Given the description of an element on the screen output the (x, y) to click on. 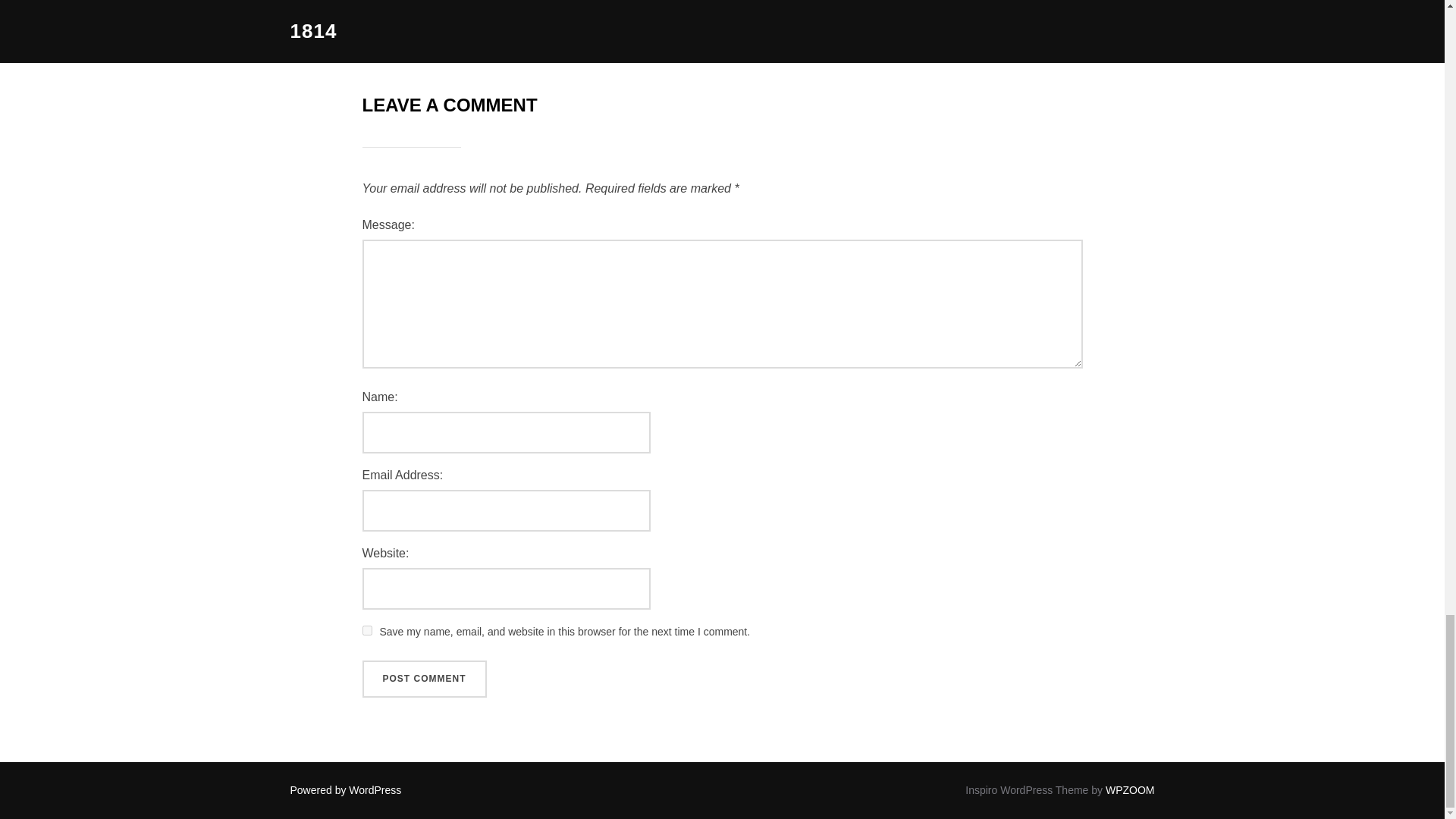
yes (367, 630)
Post Comment (424, 679)
Post Comment (424, 679)
WPZOOM (1129, 789)
Powered by WordPress (345, 789)
